Given the description of an element on the screen output the (x, y) to click on. 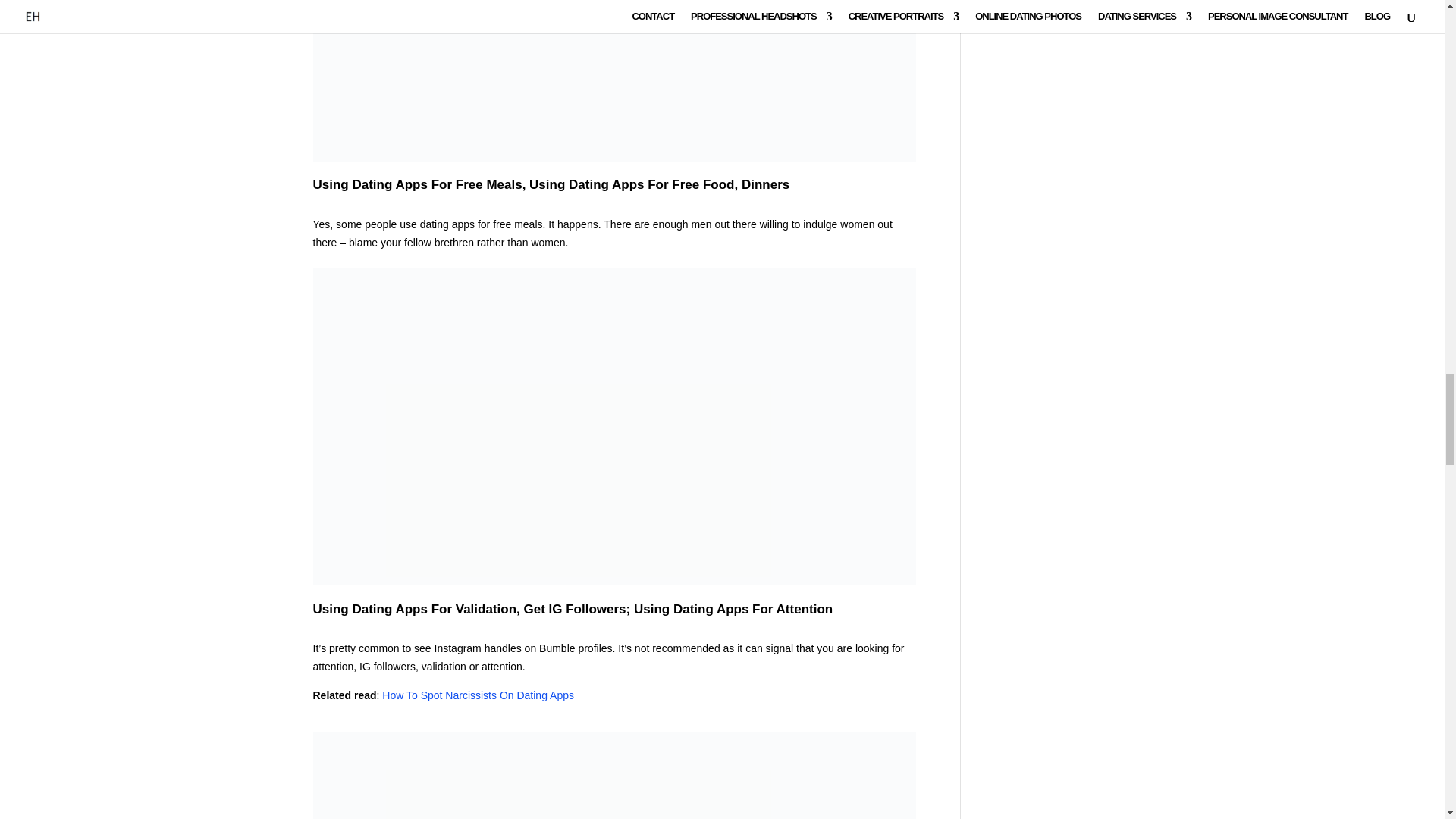
Bumble-Bio-Example-Female-08 (614, 775)
How To Spot Narcissists On Dating Apps (477, 694)
Bumble-Bio-Funny-Female-Example-15 (614, 80)
